Given the description of an element on the screen output the (x, y) to click on. 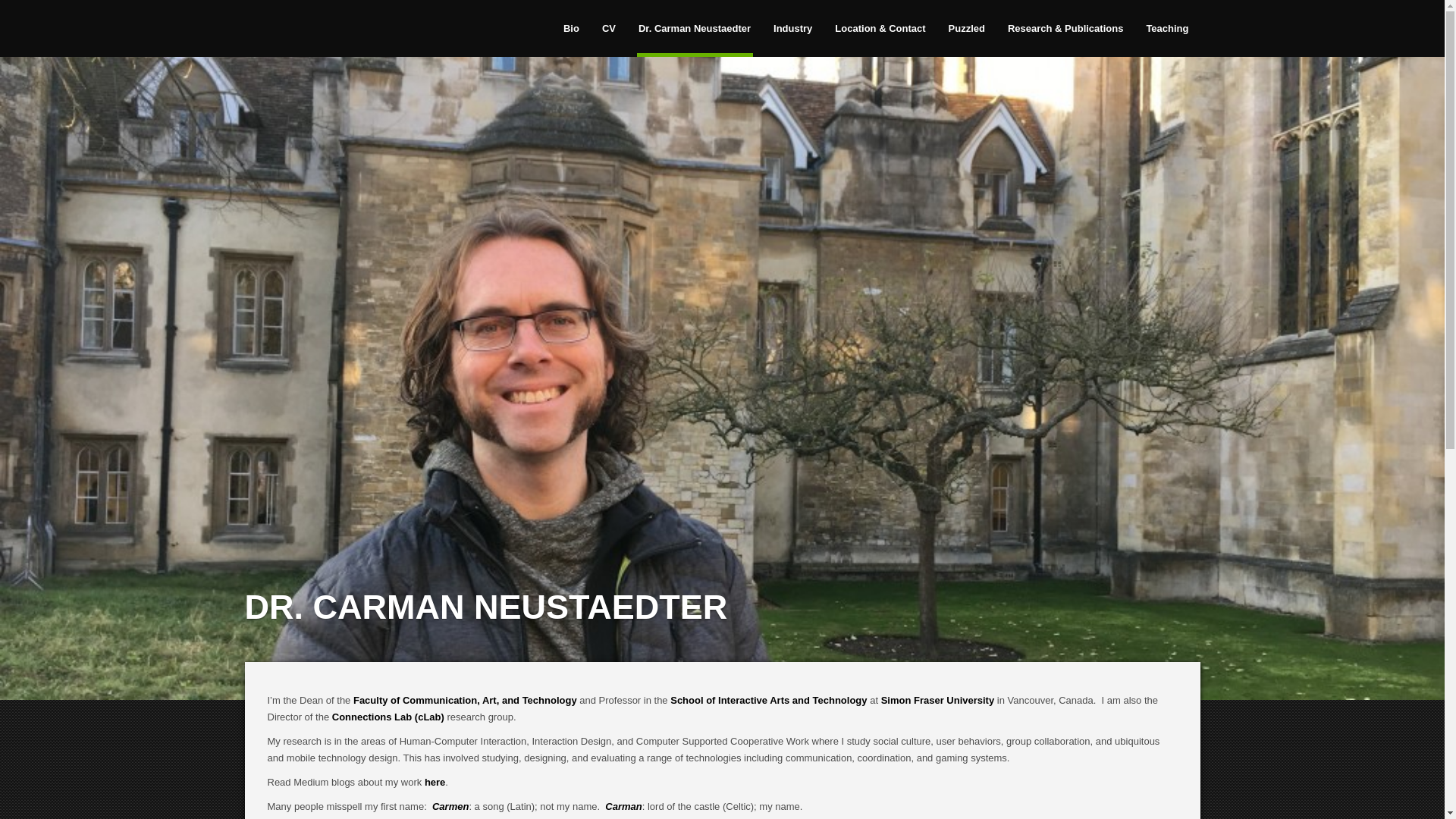
Simon Fraser University (937, 699)
Carmen (450, 806)
SFU (937, 699)
SIAT (767, 699)
Faculty of Communication, Art, and Technology (464, 699)
cLab (387, 716)
here (435, 781)
School of Interactive Arts and Technology (767, 699)
Carman (623, 806)
